Given the description of an element on the screen output the (x, y) to click on. 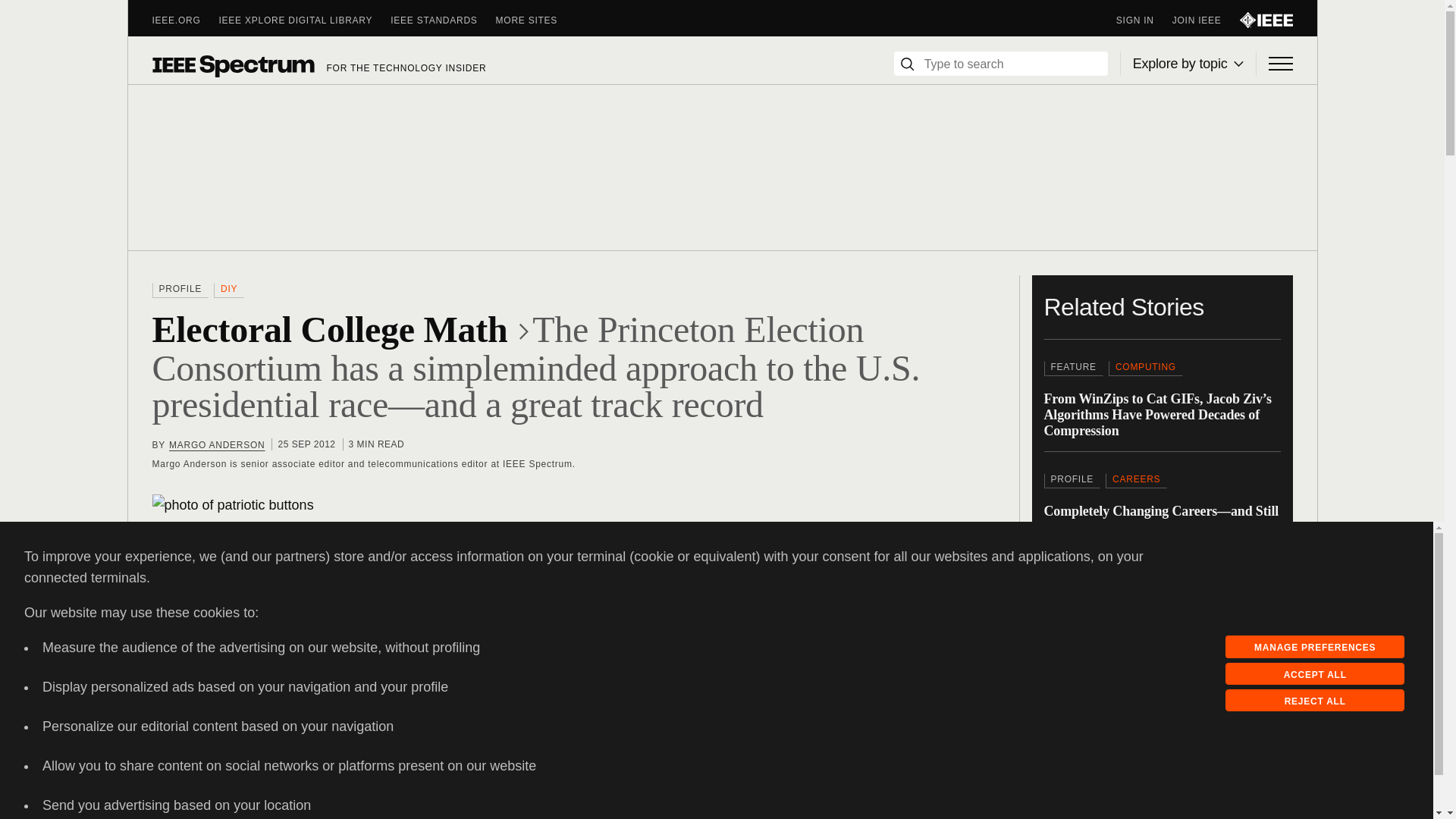
SIGN IN (1144, 20)
IEEE XPLORE DIGITAL LIBRARY (305, 20)
IEEE STANDARDS (442, 20)
MORE SITES (536, 20)
Spectrum Logo (232, 64)
REJECT ALL (1315, 700)
IEEE.ORG (184, 20)
ACCEPT ALL (1315, 673)
MANAGE PREFERENCES (1315, 646)
Search (907, 63)
JOIN IEEE (1206, 20)
